Given the description of an element on the screen output the (x, y) to click on. 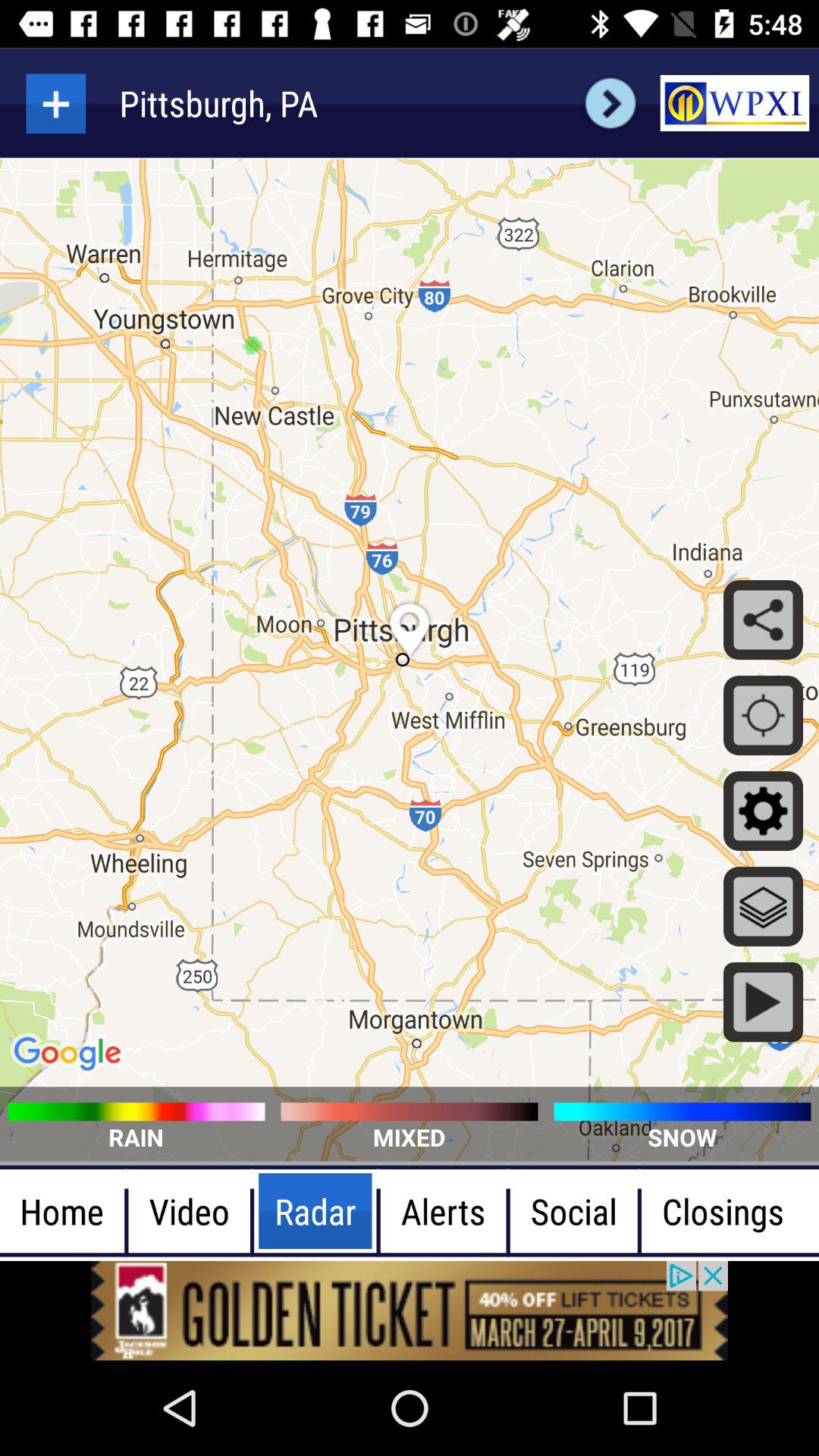
add area (55, 103)
